Given the description of an element on the screen output the (x, y) to click on. 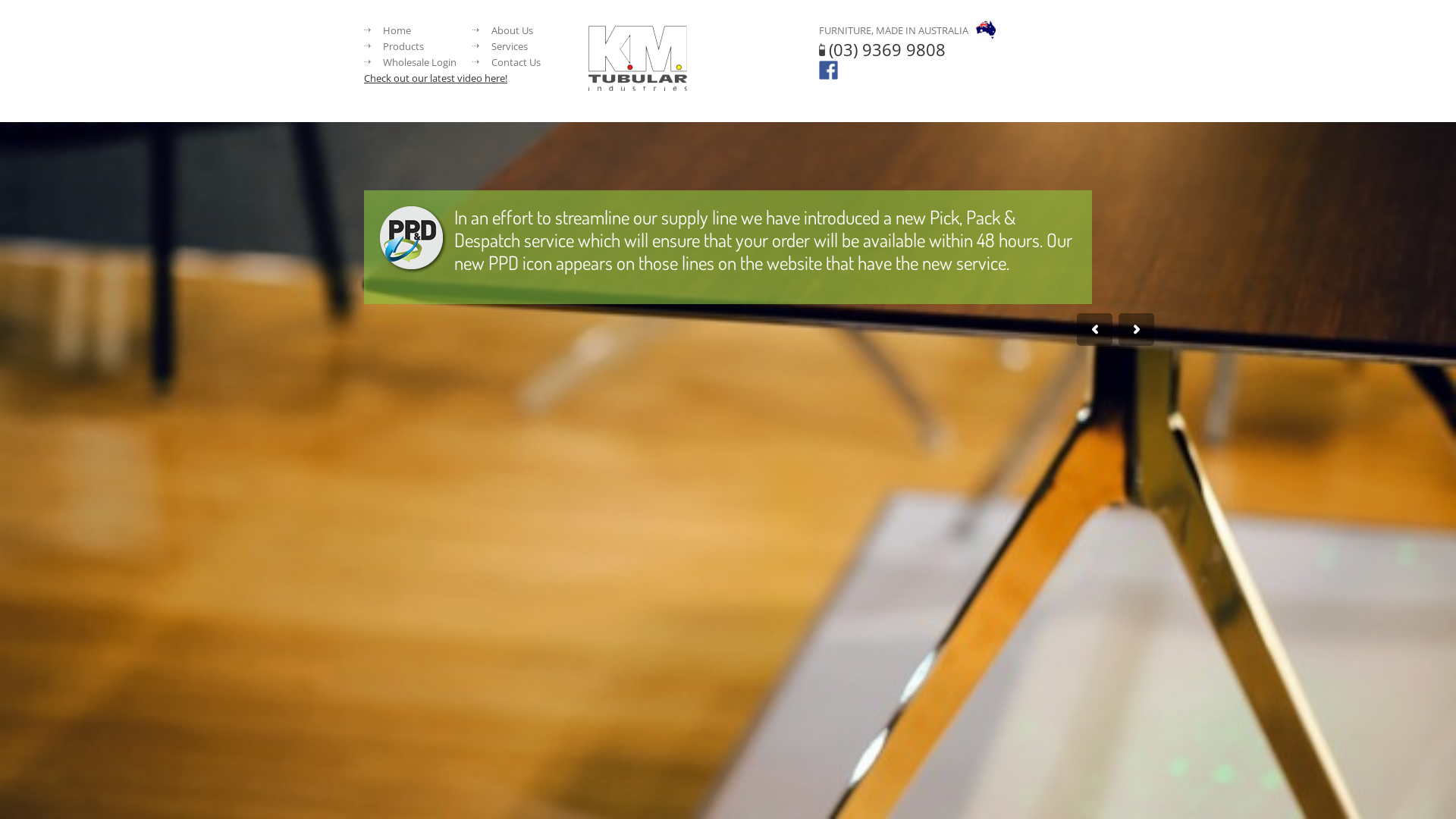
Next Element type: text (1136, 329)
Products Element type: text (402, 46)
Made in Australia Element type: hover (985, 29)
Wholesale Login Element type: text (419, 62)
Check out our latest video here! Element type: text (435, 77)
Contact Us Element type: text (515, 62)
About Us Element type: text (512, 30)
Previous Element type: text (1094, 329)
Home Element type: text (396, 30)
Services Element type: text (509, 46)
